Given the description of an element on the screen output the (x, y) to click on. 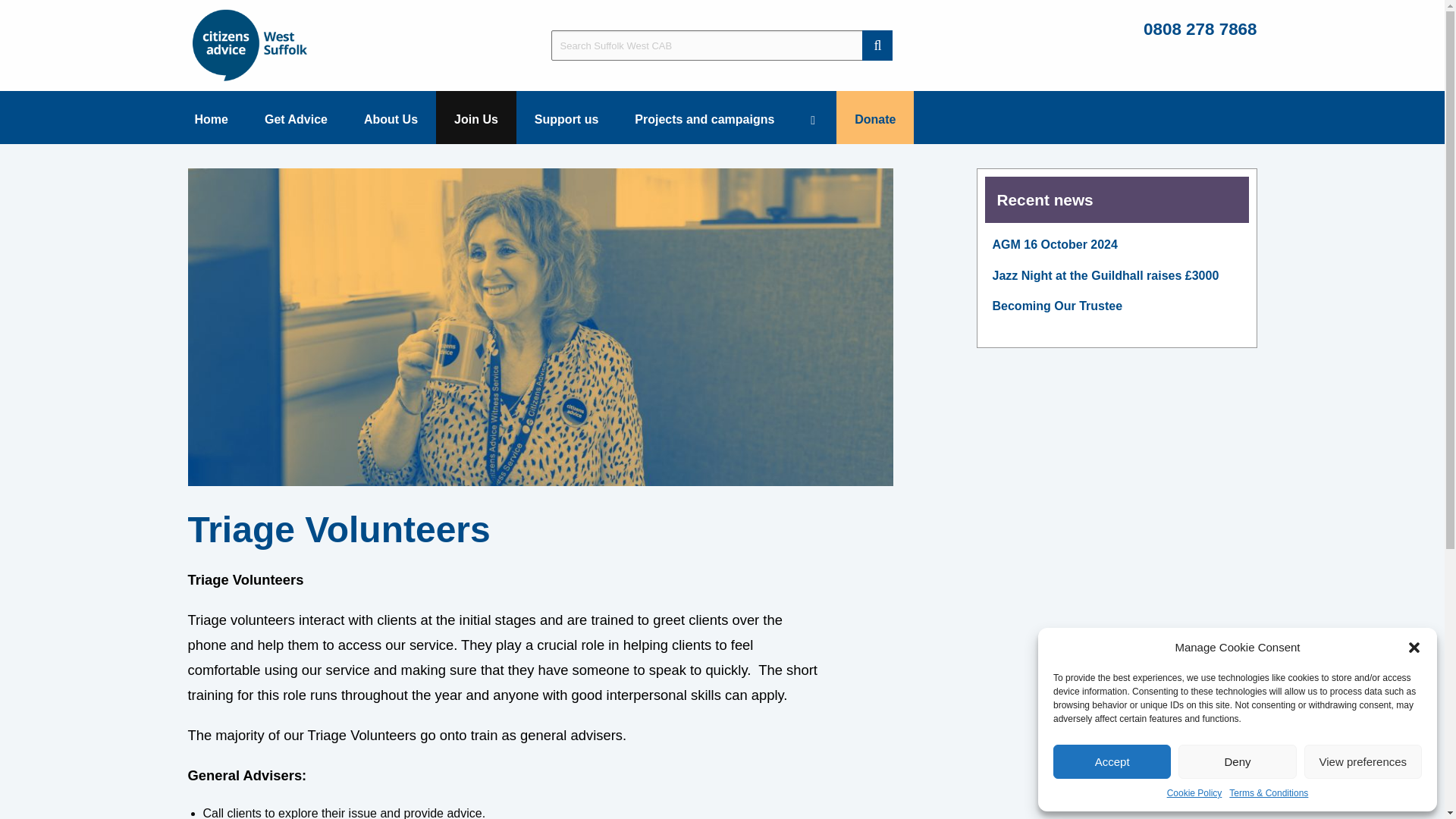
Search (876, 45)
Join Us (475, 117)
Deny (1236, 761)
Cookie Policy (1195, 793)
Get Advice (296, 117)
View preferences (1363, 761)
Support us (565, 117)
About Us (390, 117)
Accept (1111, 761)
Projects and campaigns (703, 117)
Home (211, 117)
